Given the description of an element on the screen output the (x, y) to click on. 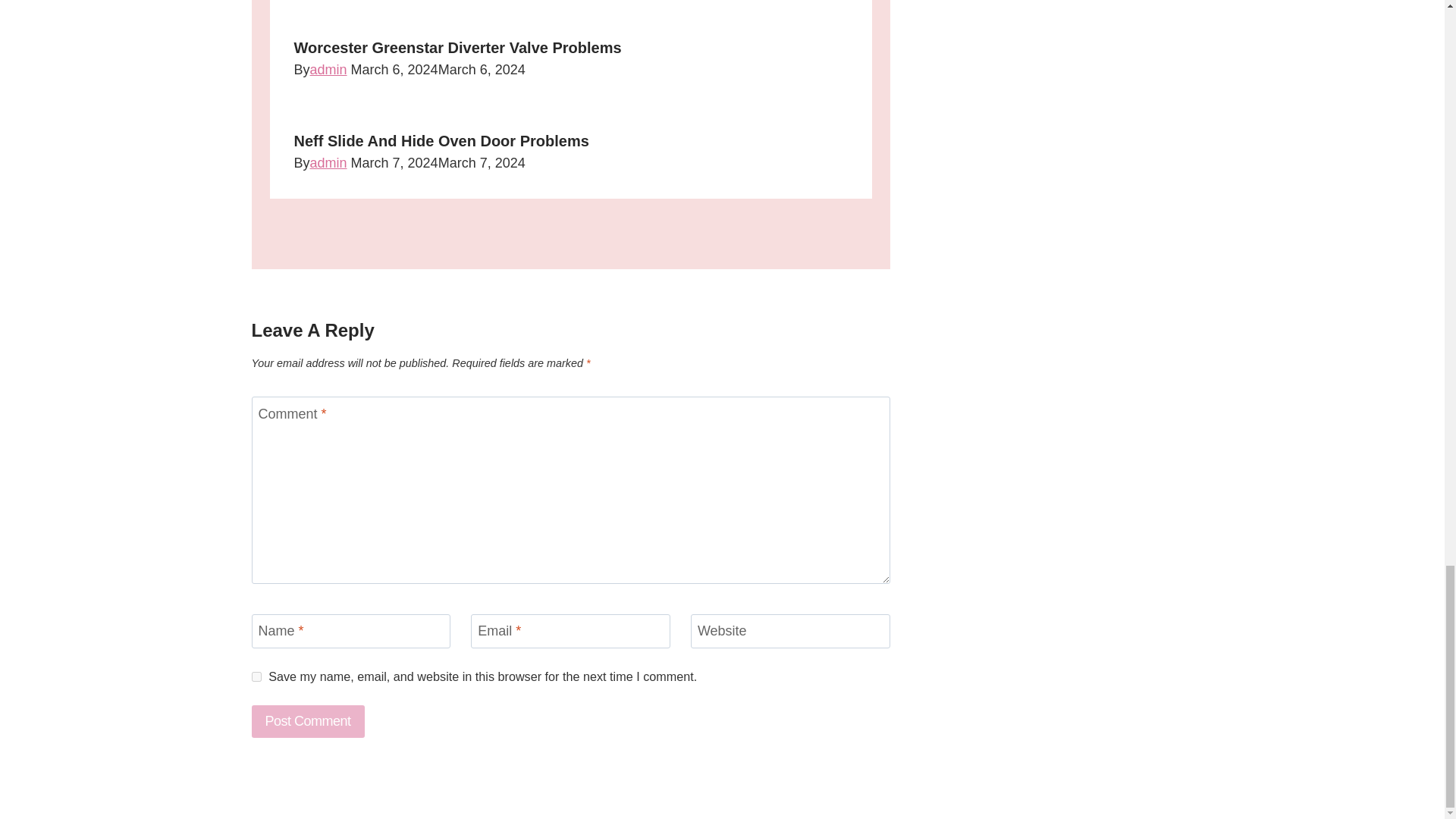
Worcester Greenstar Diverter Valve Problems (457, 47)
yes (256, 676)
admin (328, 69)
Neff Slide And Hide Oven Door Problems (441, 140)
Post Comment (308, 721)
